Given the description of an element on the screen output the (x, y) to click on. 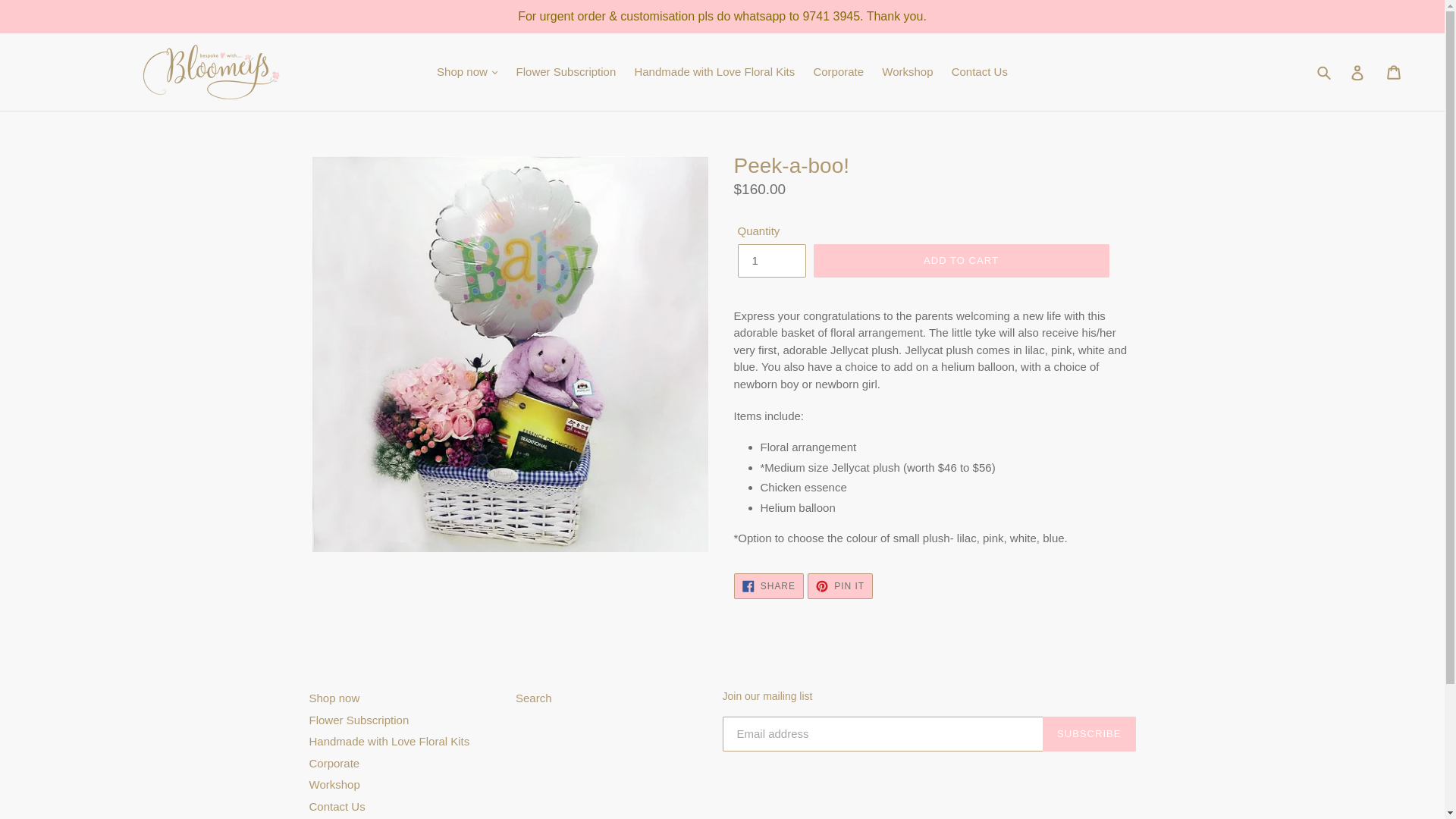
Flower Subscription (566, 72)
Handmade with Love Floral Kits (714, 72)
Cart (1394, 71)
Workshop (907, 72)
Corporate (837, 72)
Log in (1356, 71)
Submit (1324, 71)
1 (770, 260)
Contact Us (978, 72)
